Given the description of an element on the screen output the (x, y) to click on. 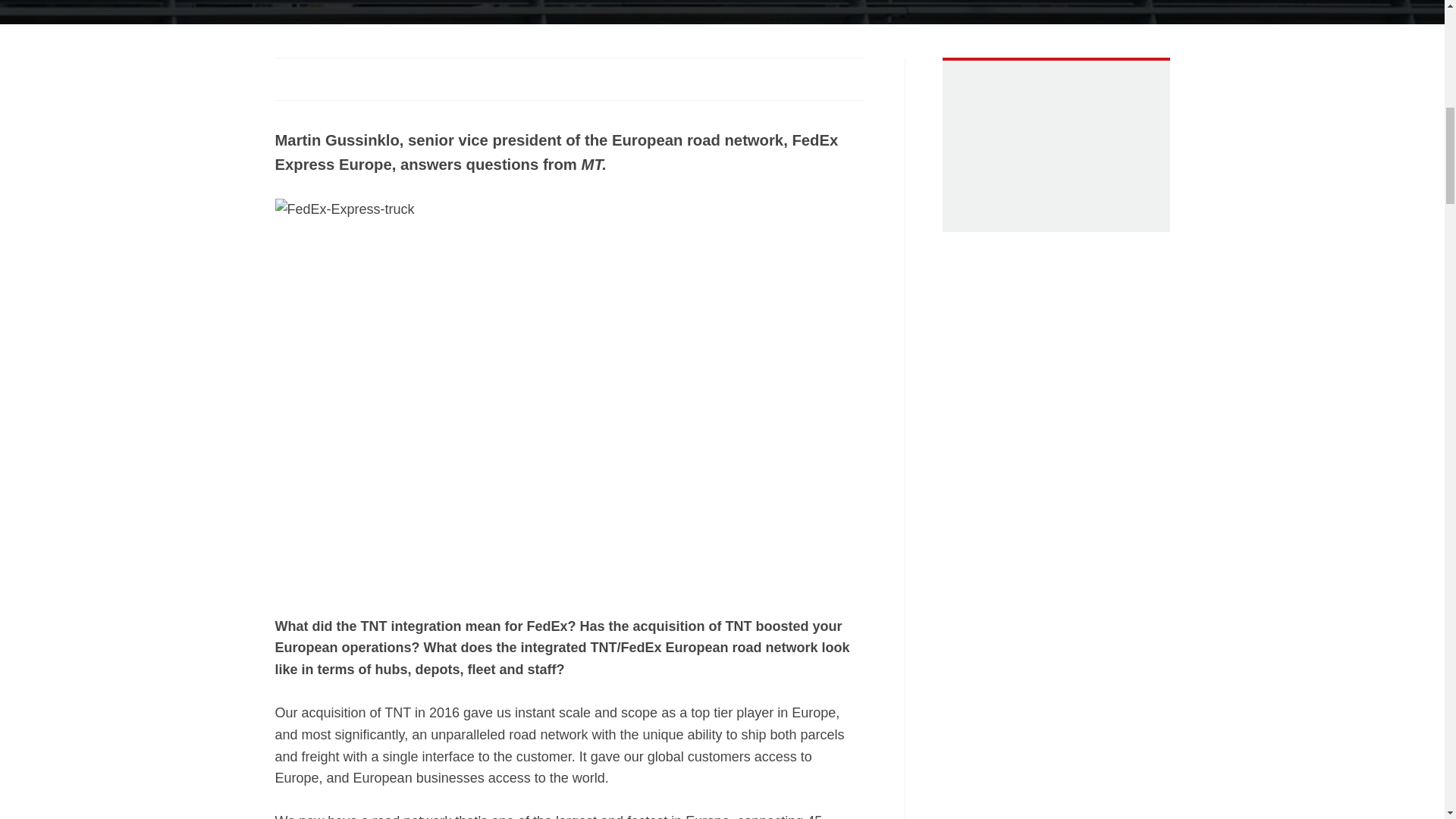
Share this on Twitter (316, 78)
Email this article (376, 78)
Share this on Facebook (286, 78)
Share this on Linked in (345, 78)
